Given the description of an element on the screen output the (x, y) to click on. 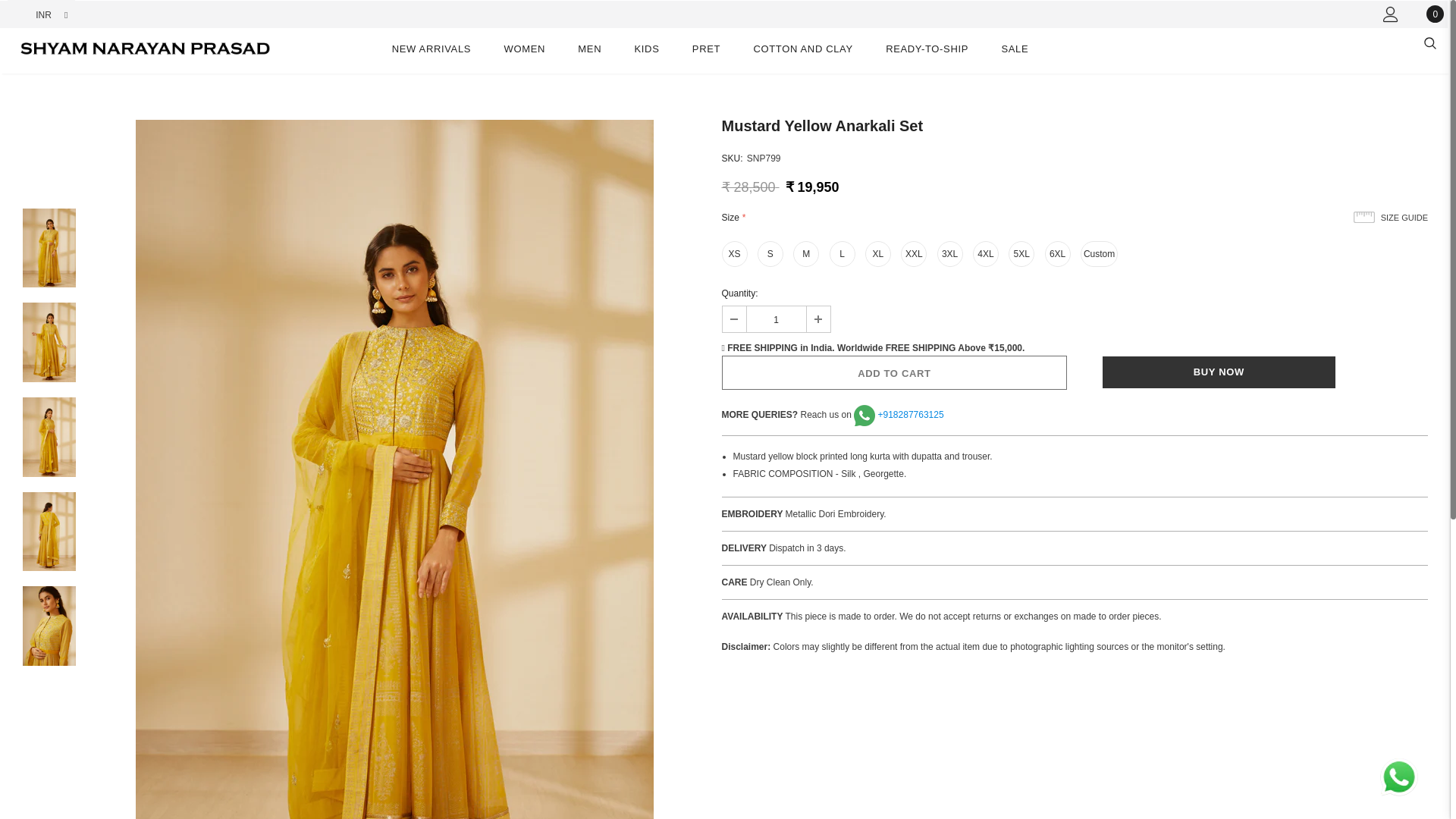
SALE (1014, 52)
1 (775, 319)
My Account (1390, 13)
KIDS (646, 52)
MEN (589, 52)
READY-TO-SHIP (926, 52)
My Bag (1431, 13)
PRET (706, 52)
WOMEN (523, 52)
0 (1431, 13)
Search Icon (1429, 42)
COTTON AND CLAY (801, 52)
Add to Cart (894, 372)
NEW ARRIVALS (430, 52)
